Given the description of an element on the screen output the (x, y) to click on. 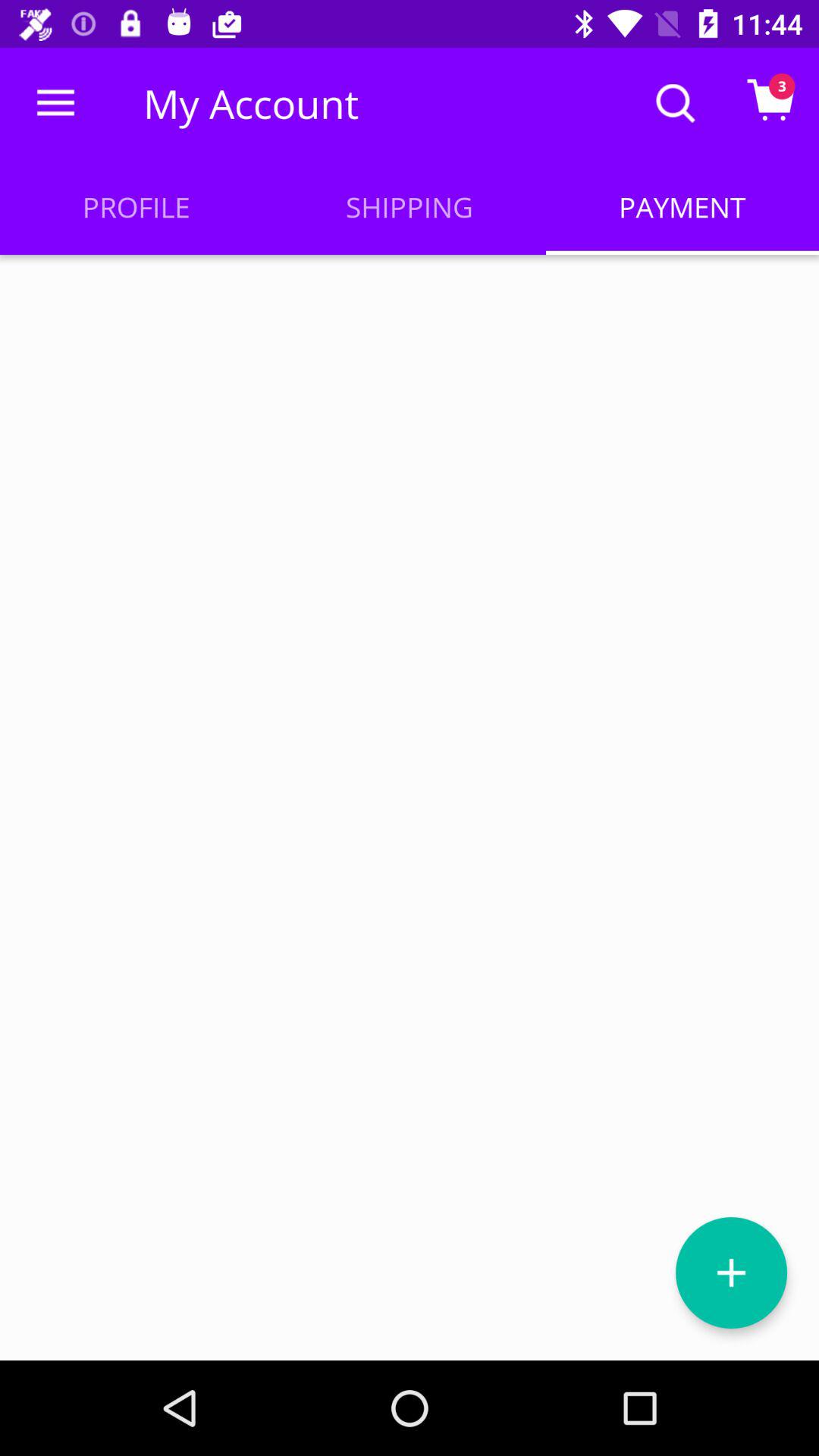
turn on item above profile (55, 103)
